Given the description of an element on the screen output the (x, y) to click on. 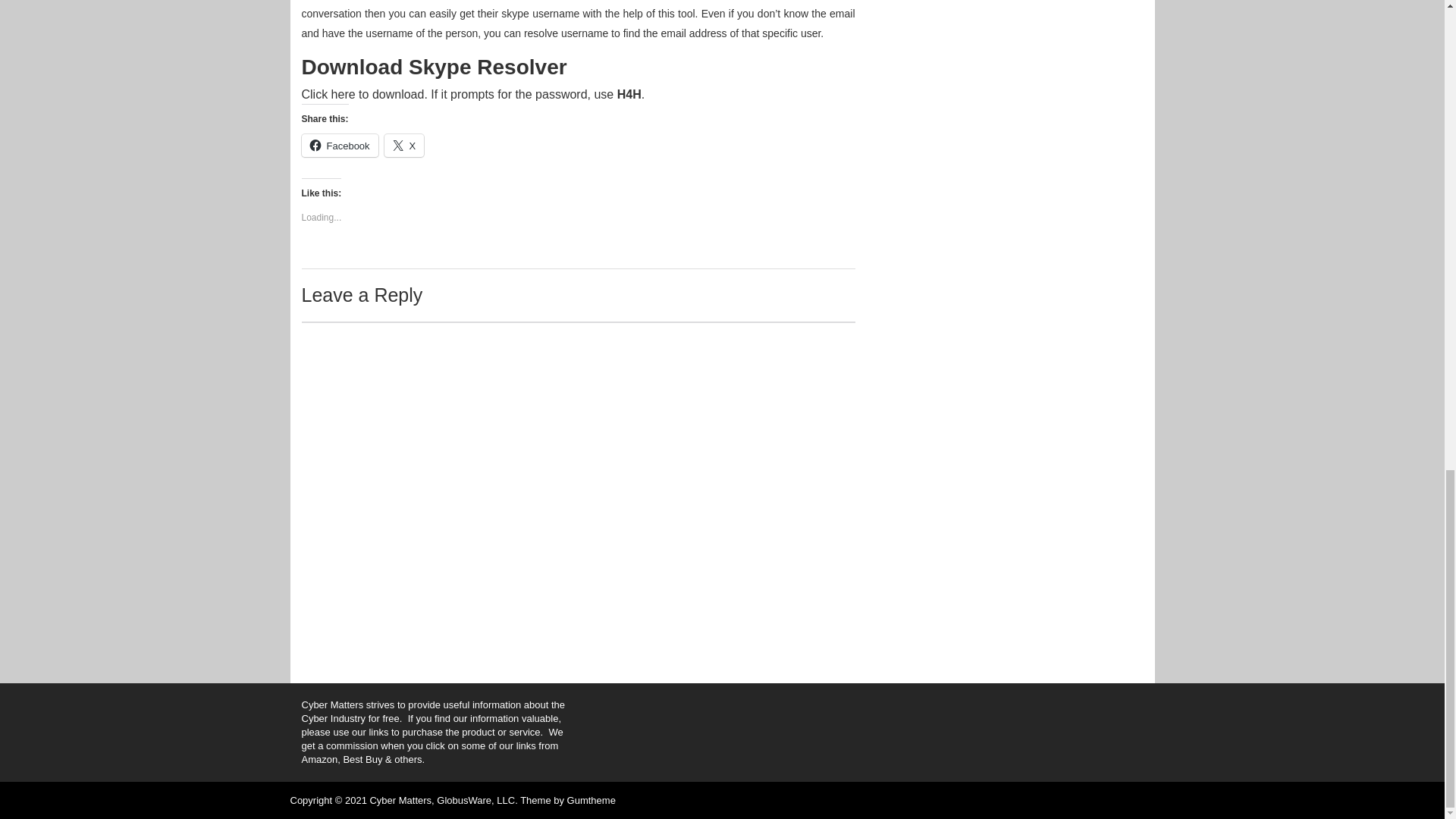
Click to share on Facebook (339, 145)
Click to share on X (404, 145)
Click here (328, 93)
Shift-click to edit this widget. (434, 732)
Facebook (339, 145)
Gumtheme (591, 799)
X (404, 145)
